Given the description of an element on the screen output the (x, y) to click on. 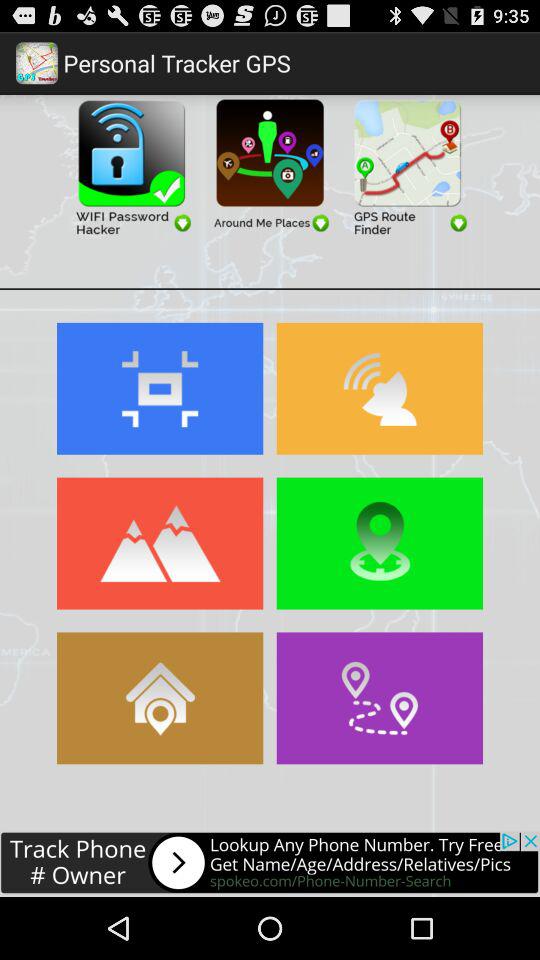
select the zoom button (160, 388)
